Given the description of an element on the screen output the (x, y) to click on. 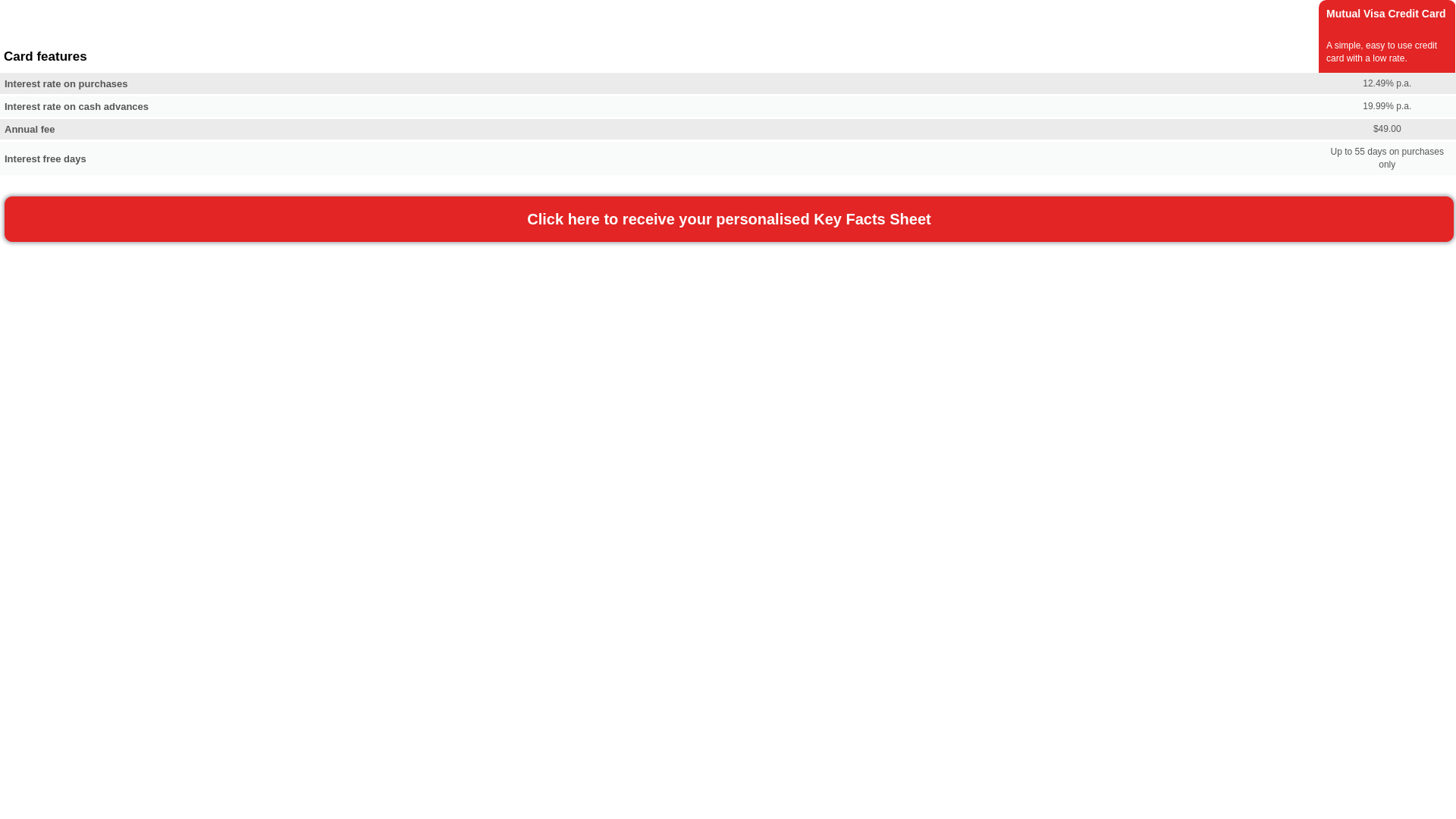
Click here to receive your personalised Key Facts Sheet Element type: text (728, 218)
